Given the description of an element on the screen output the (x, y) to click on. 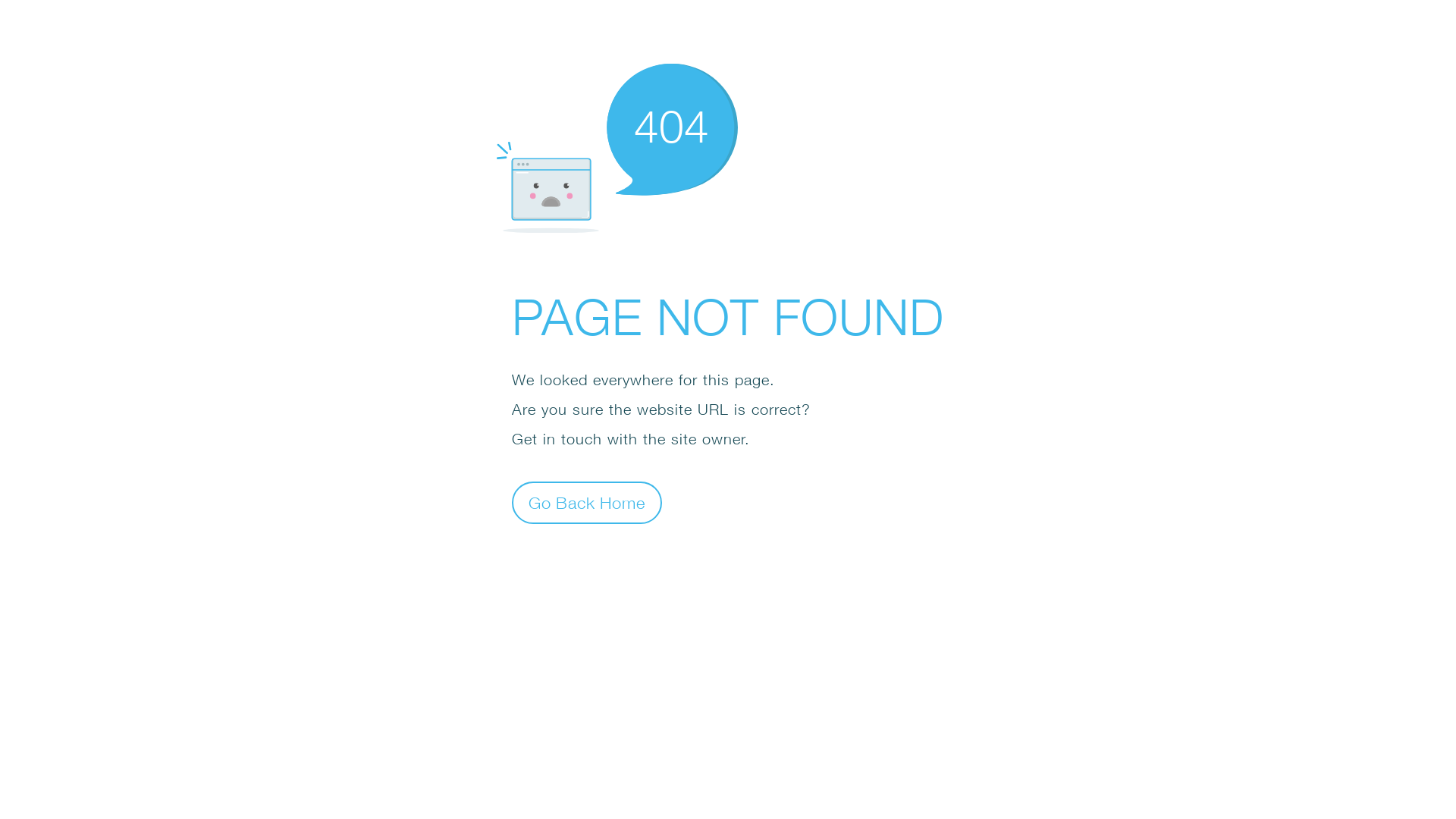
Go Back Home Element type: text (586, 502)
